Given the description of an element on the screen output the (x, y) to click on. 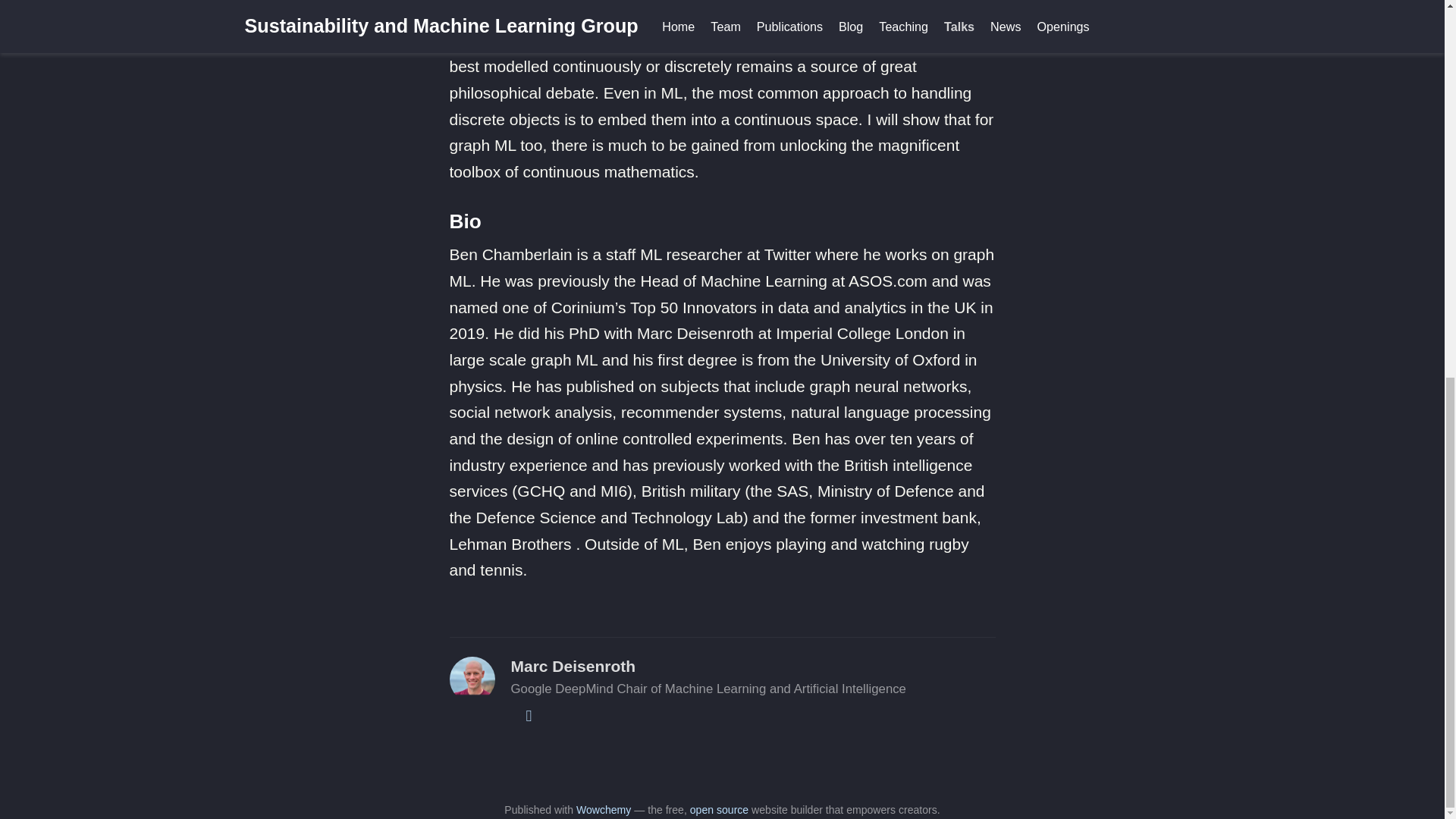
open source (719, 809)
Wowchemy (603, 809)
Marc Deisenroth (573, 665)
